Given the description of an element on the screen output the (x, y) to click on. 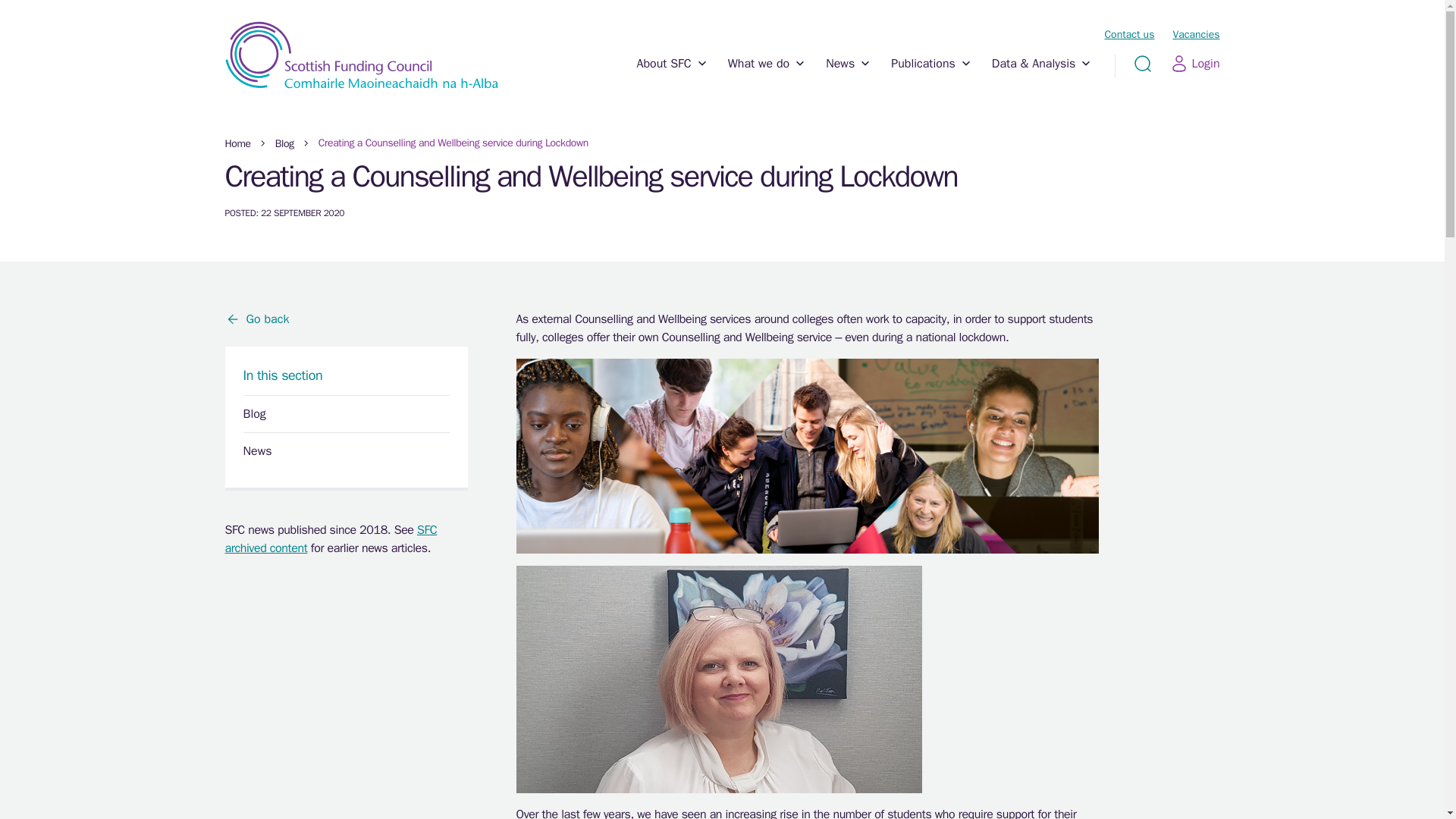
What we do (767, 75)
About SFC (672, 75)
Login to account (1195, 63)
Vacancies (1196, 33)
Contact us (1128, 33)
Click button to search site (1142, 63)
Go to the homepage (360, 55)
Click to see SFC archived content (330, 539)
